Given the description of an element on the screen output the (x, y) to click on. 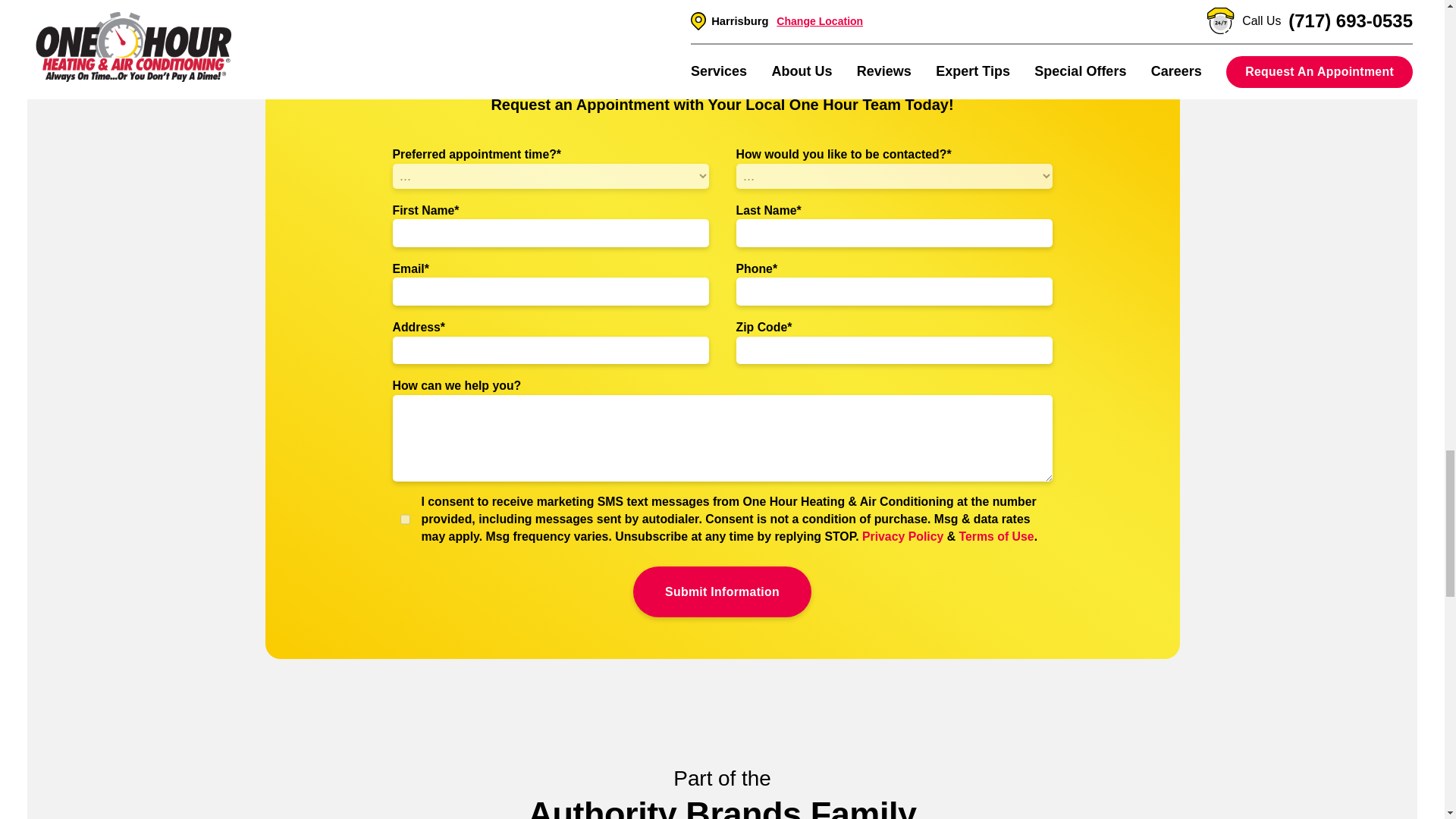
Submit Information (721, 591)
